Given the description of an element on the screen output the (x, y) to click on. 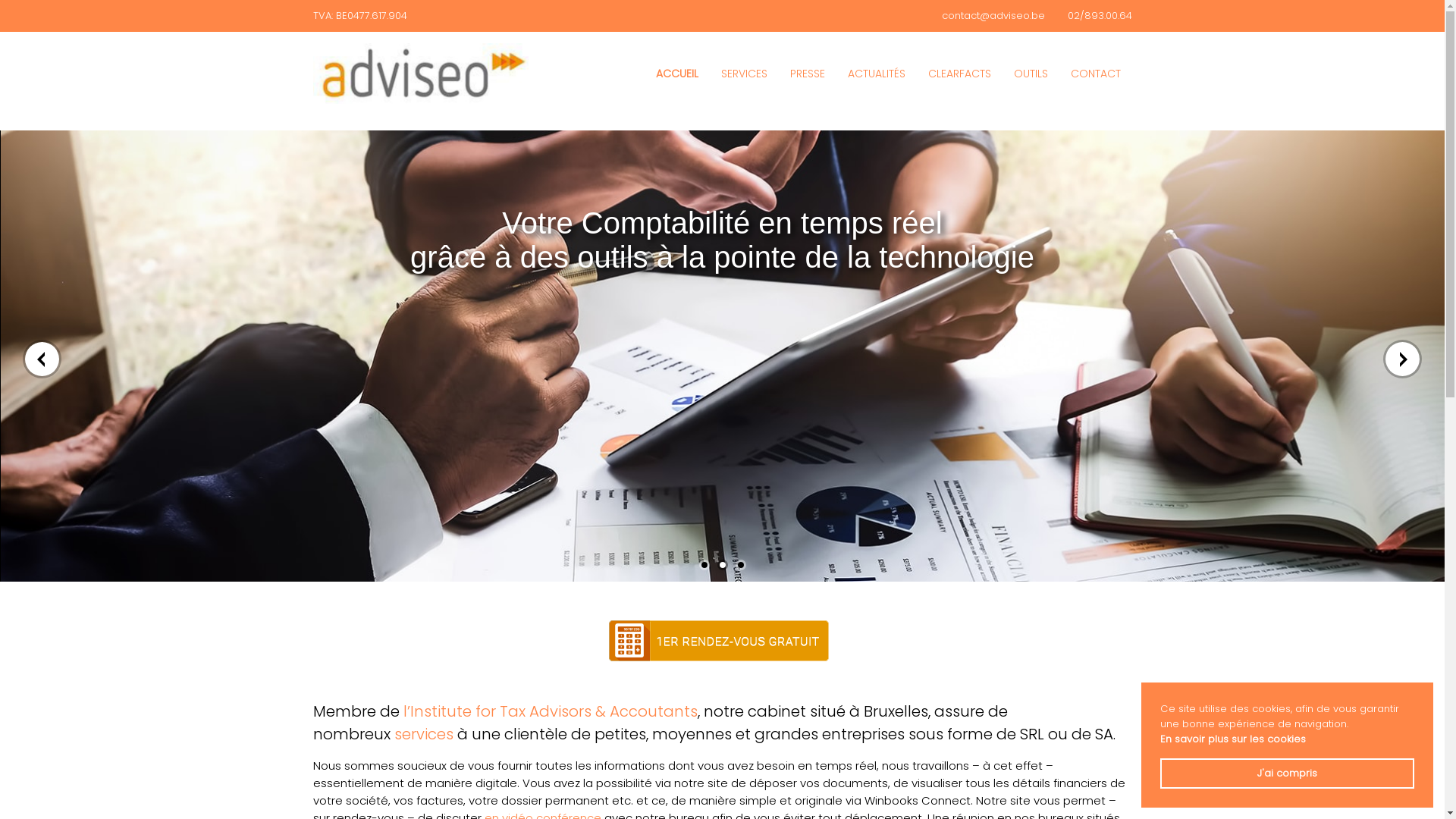
CLEARFACTS Element type: text (958, 73)
Adviseo Element type: hover (419, 73)
OUTILS Element type: text (1030, 73)
SERVICES Element type: text (743, 73)
02/893.00.64 Element type: text (1099, 15)
contact@adviseo.be Element type: text (992, 15)
CONTACT Element type: text (1094, 73)
ACCUEIL Element type: text (676, 73)
En savoir plus sur les cookies Element type: text (1232, 738)
service Element type: text (419, 733)
s Element type: text (449, 733)
PRESSE Element type: text (806, 73)
